Given the description of an element on the screen output the (x, y) to click on. 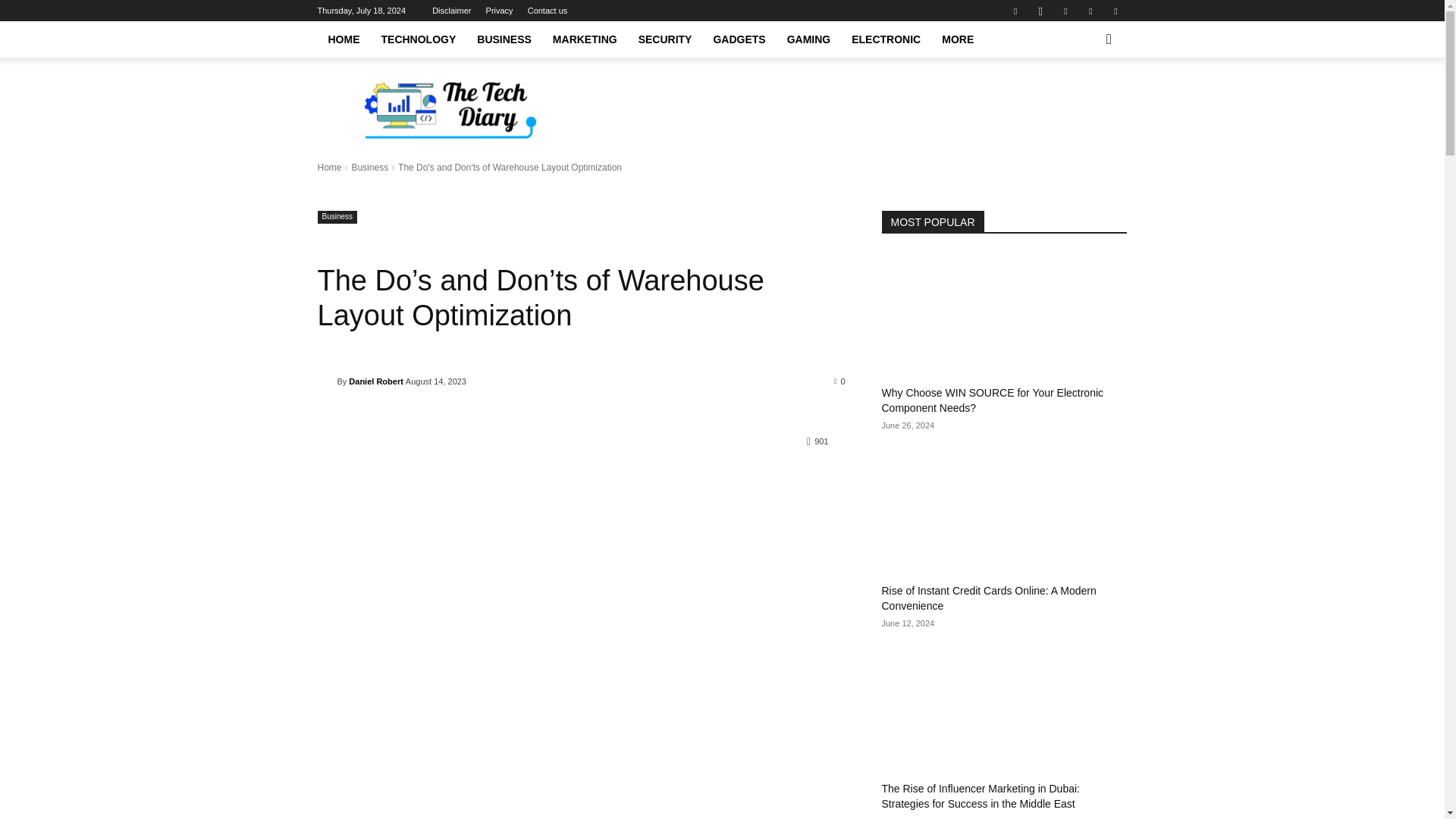
Daniel Robert (326, 381)
Facebook (1015, 10)
View all posts in Business (369, 167)
Vimeo (1090, 10)
Twitter (1065, 10)
Instagram (1040, 10)
Youtube (1114, 10)
